Given the description of an element on the screen output the (x, y) to click on. 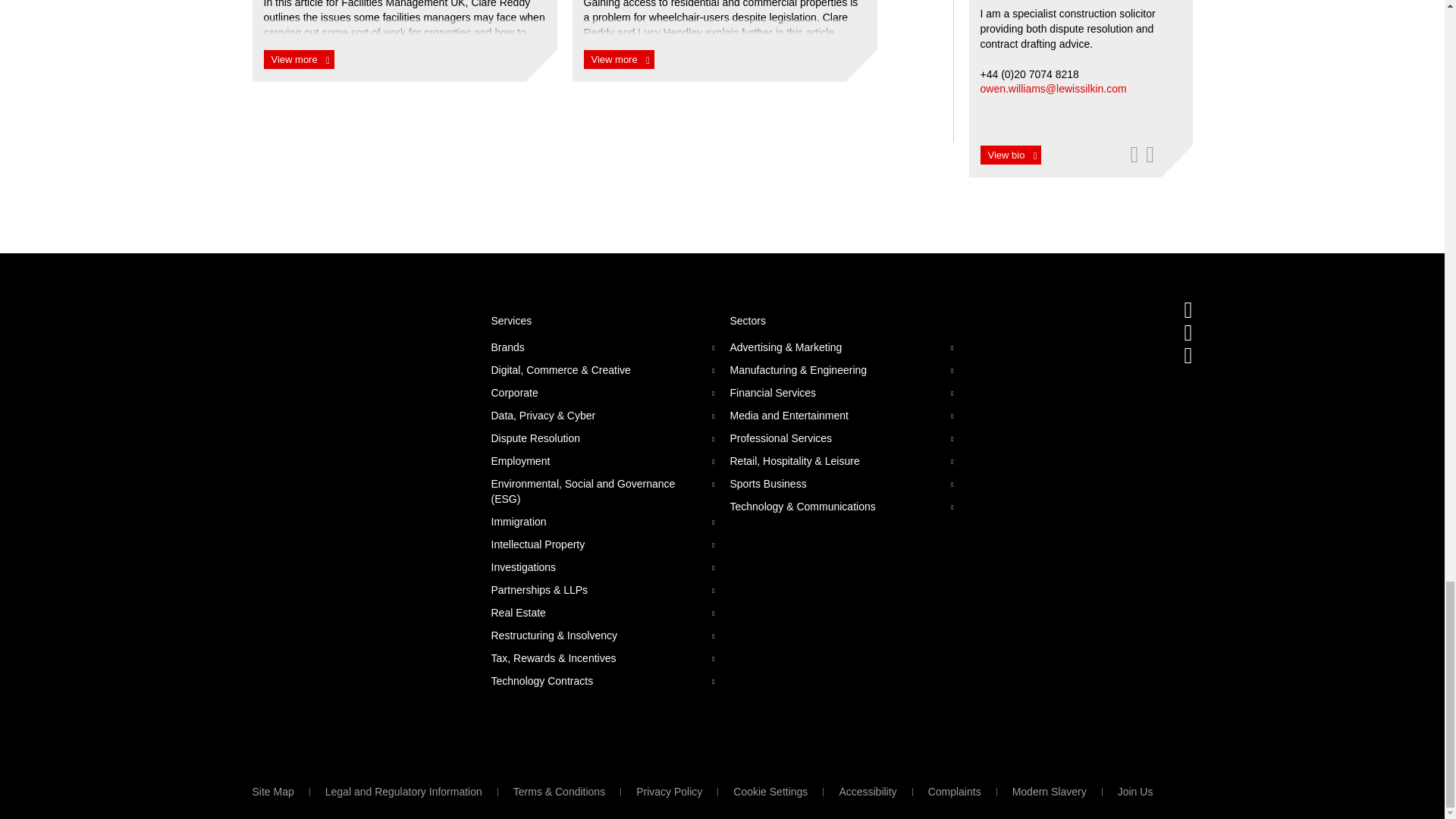
Opens in a new tab (1188, 332)
Opens in a new tab (1133, 154)
Opens in a new tab (1188, 355)
Opens in a new tab (1188, 309)
Opens in a new tab (1149, 154)
